Given the description of an element on the screen output the (x, y) to click on. 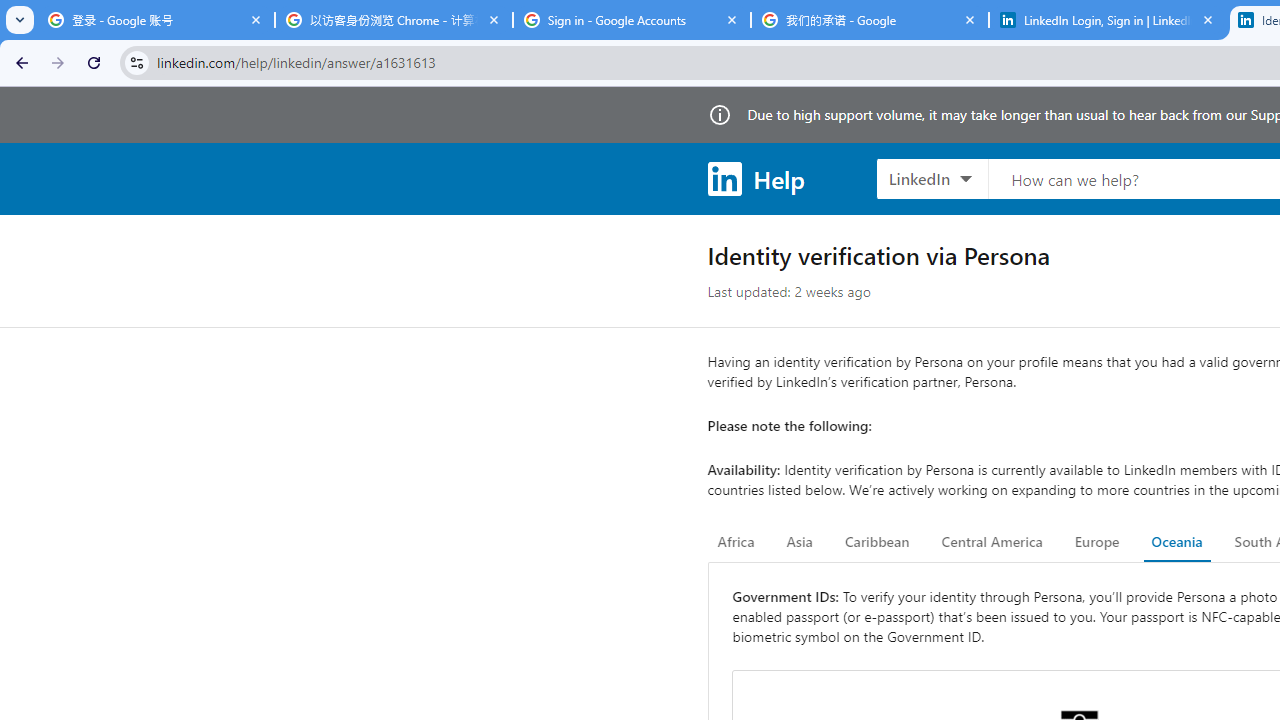
Asia (799, 542)
Oceania (1176, 542)
Central America (991, 542)
Europe (1096, 542)
LinkedIn products to search, LinkedIn selected (932, 178)
Sign in - Google Accounts (632, 20)
Caribbean (876, 542)
